Given the description of an element on the screen output the (x, y) to click on. 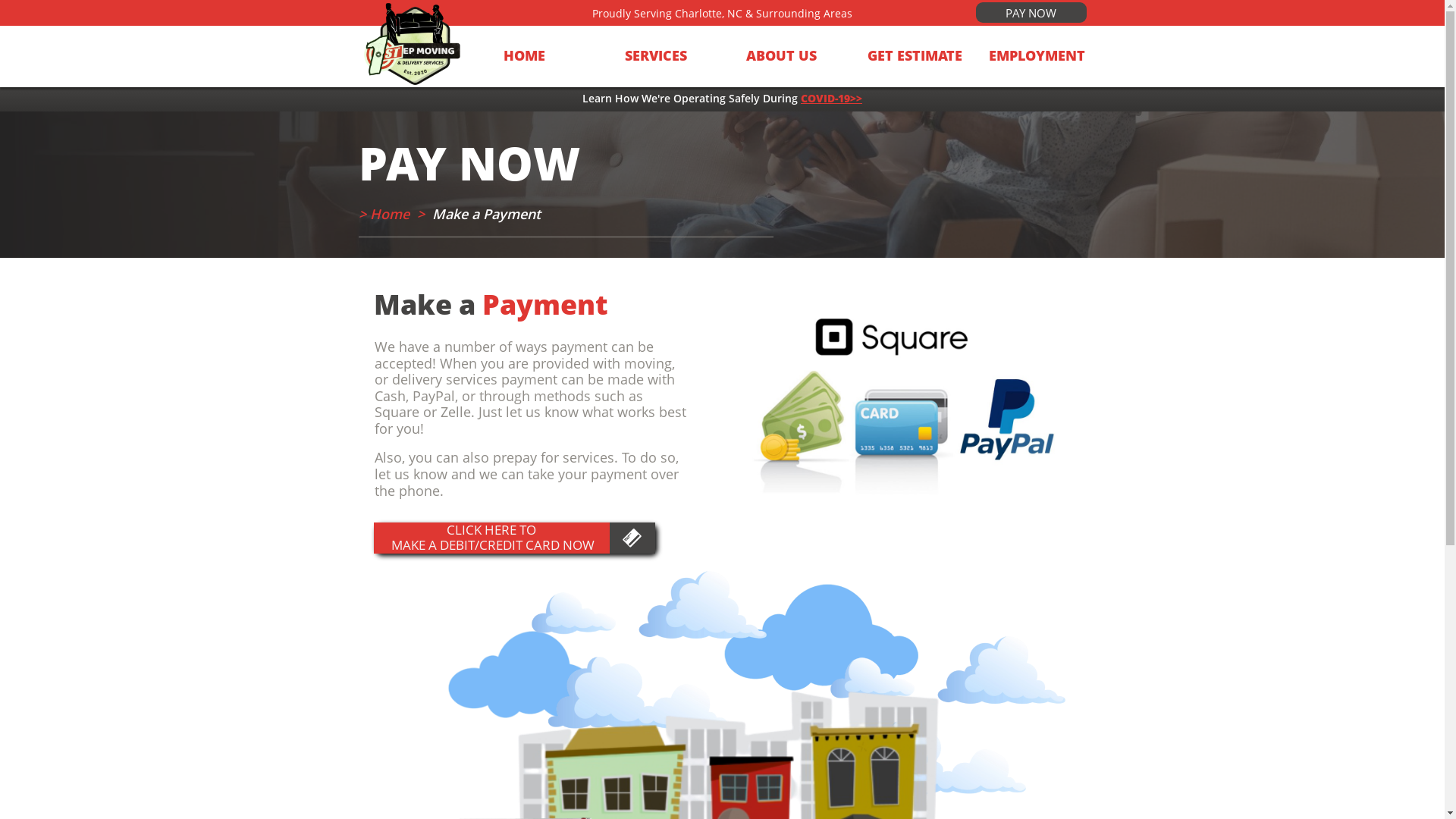
ABOUT US Element type: text (786, 55)
HOME Element type: text (543, 55)
PAY NOW Element type: text (1030, 12)
EMPLOYMENT Element type: text (1028, 55)
COVID-19>> Element type: text (831, 98)
Home  Element type: text (391, 213)
GET ESTIMATE Element type: text (907, 55)
SERVICES Element type: text (664, 55)
